Given the description of an element on the screen output the (x, y) to click on. 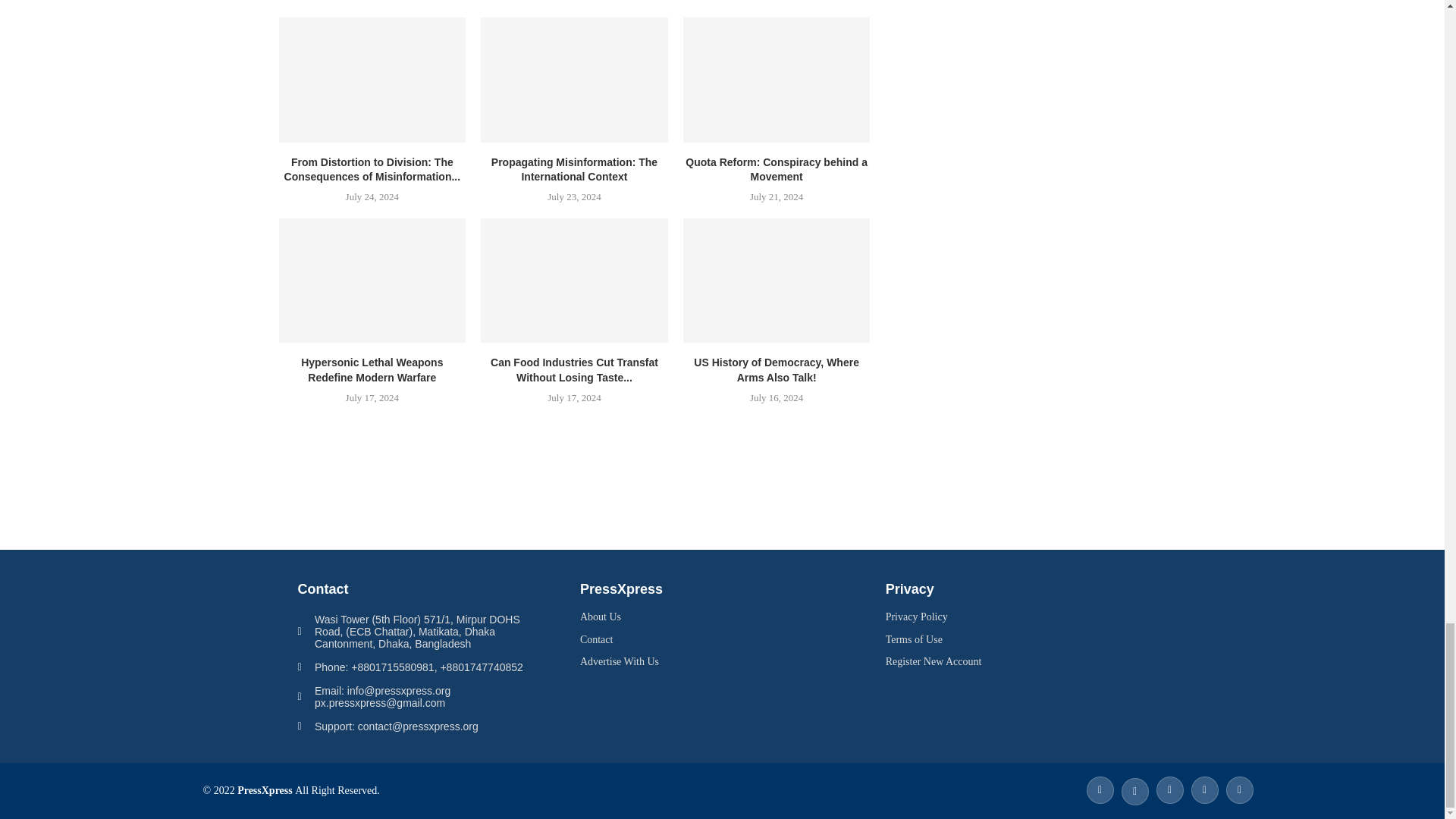
US History of Democracy, Where Arms Also Talk! (776, 280)
Hypersonic Lethal Weapons Redefine Modern Warfare (372, 280)
Propagating Misinformation: The International Context (574, 79)
Quota Reform: Conspiracy behind a Movement (776, 79)
